Given the description of an element on the screen output the (x, y) to click on. 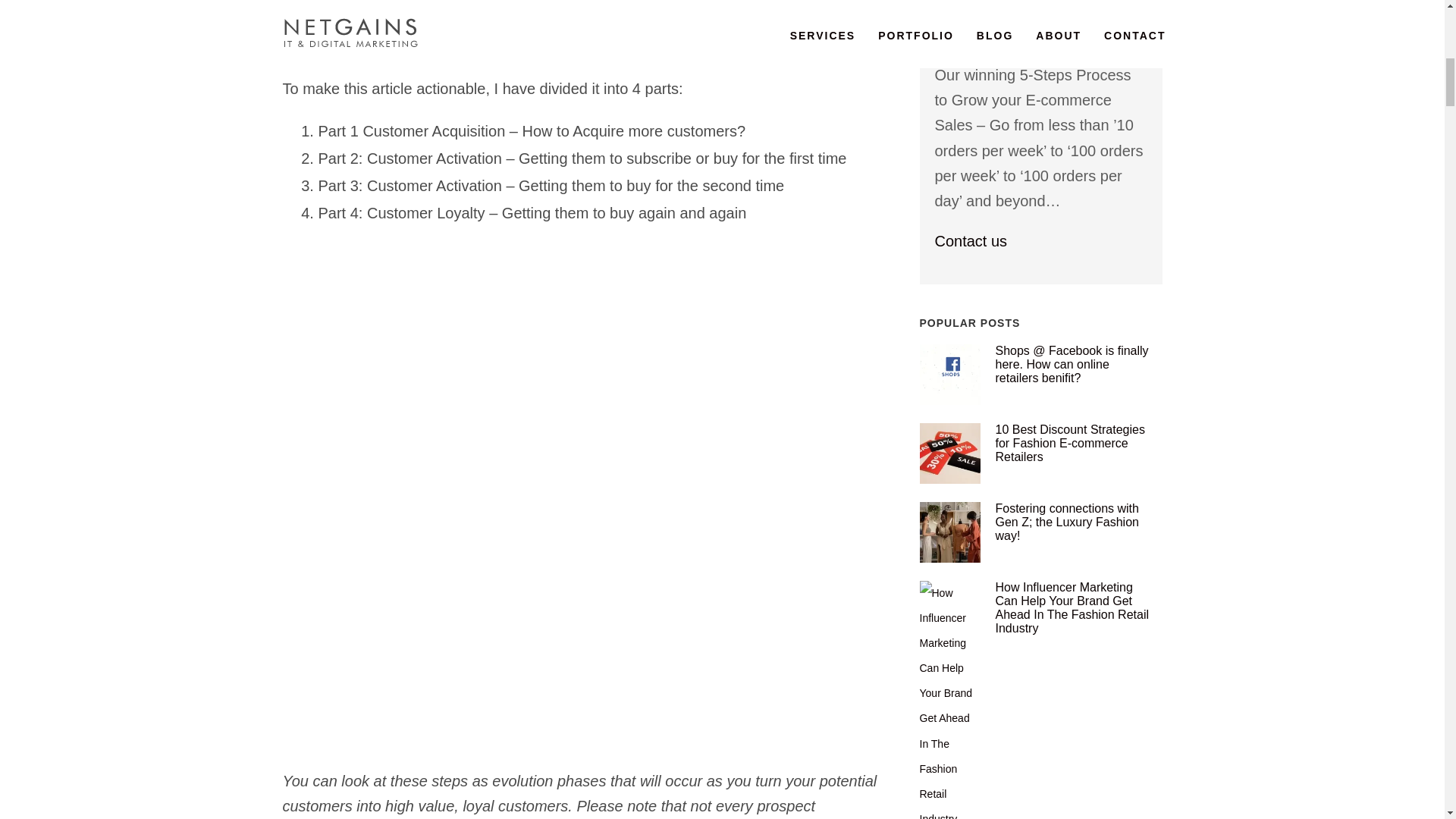
Fostering connections with Gen Z; the Luxury Fashion way! (948, 532)
10 Best Discount Strategies for Fashion E-commerce Retailers (948, 453)
